Given the description of an element on the screen output the (x, y) to click on. 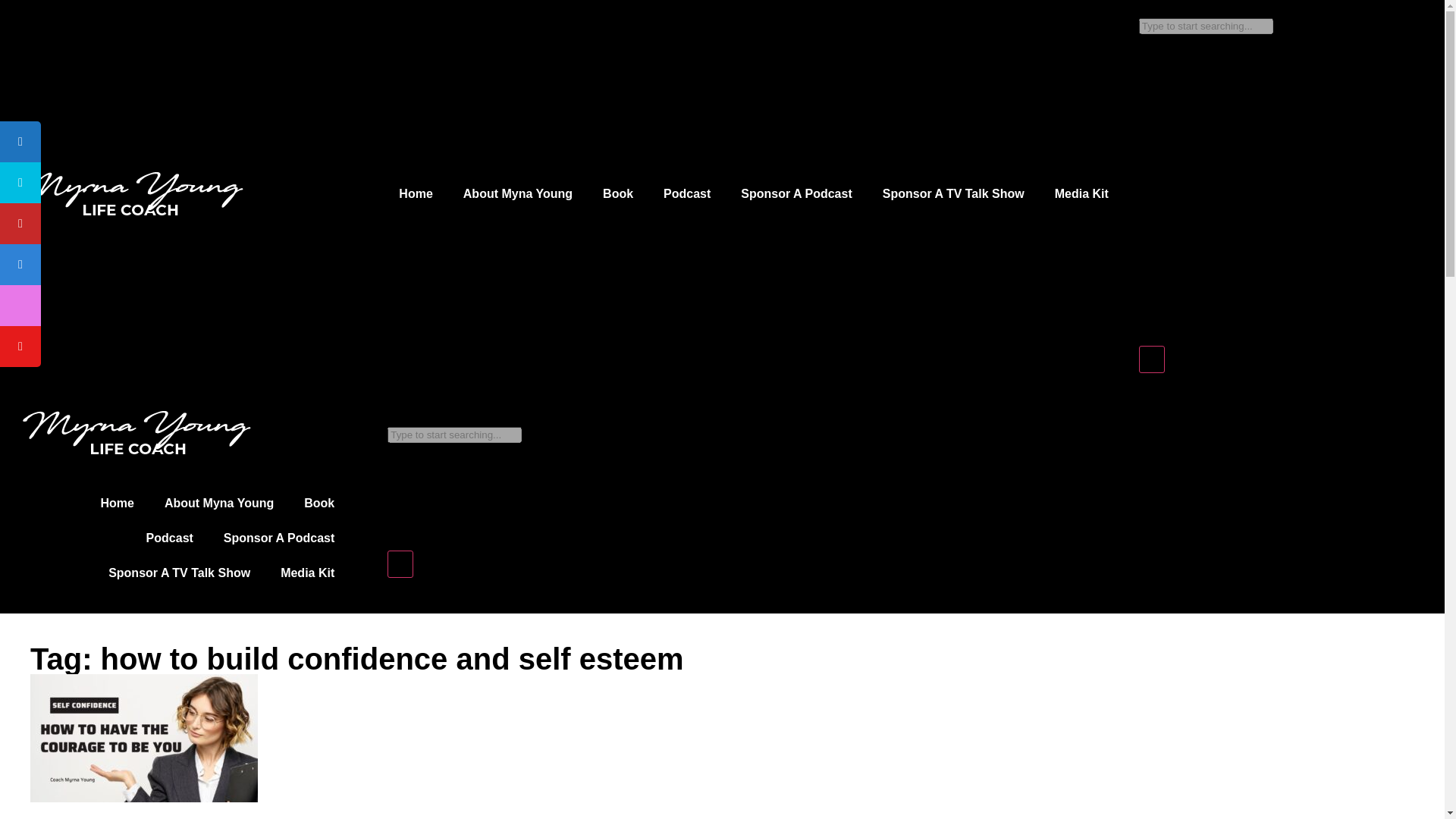
Podcast (686, 193)
Sponsor A TV Talk Show (178, 573)
Sponsor A Podcast (278, 538)
Podcast (169, 538)
Book (617, 193)
Home (415, 193)
Sponsor A Podcast (795, 193)
Home (117, 503)
Sponsor A TV Talk Show (953, 193)
About Myna Young (218, 503)
